Given the description of an element on the screen output the (x, y) to click on. 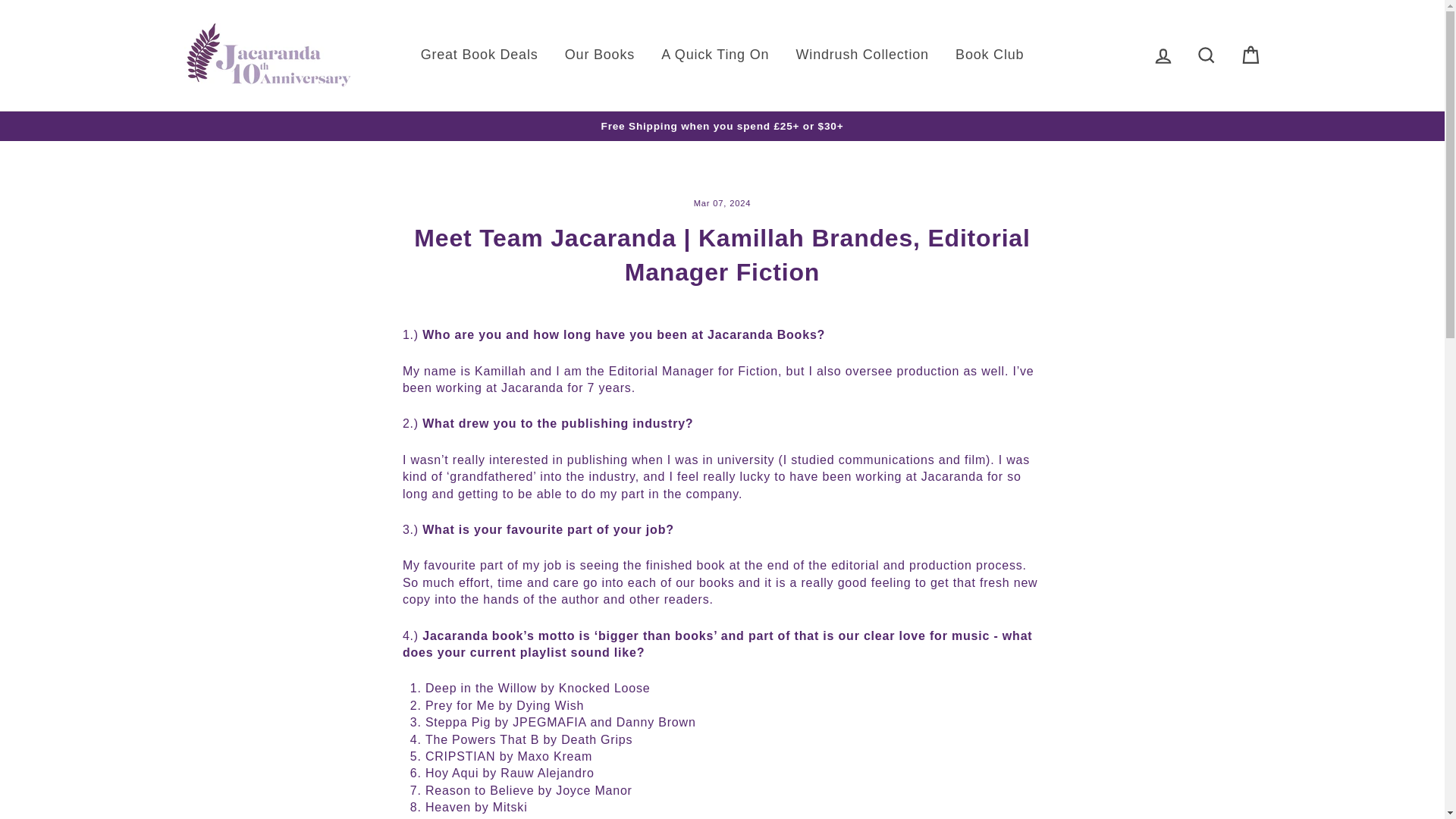
Book Club (989, 55)
Great Book Deals (479, 55)
Our Books (599, 55)
A Quick Ting On (714, 55)
Windrush Collection (862, 55)
